Given the description of an element on the screen output the (x, y) to click on. 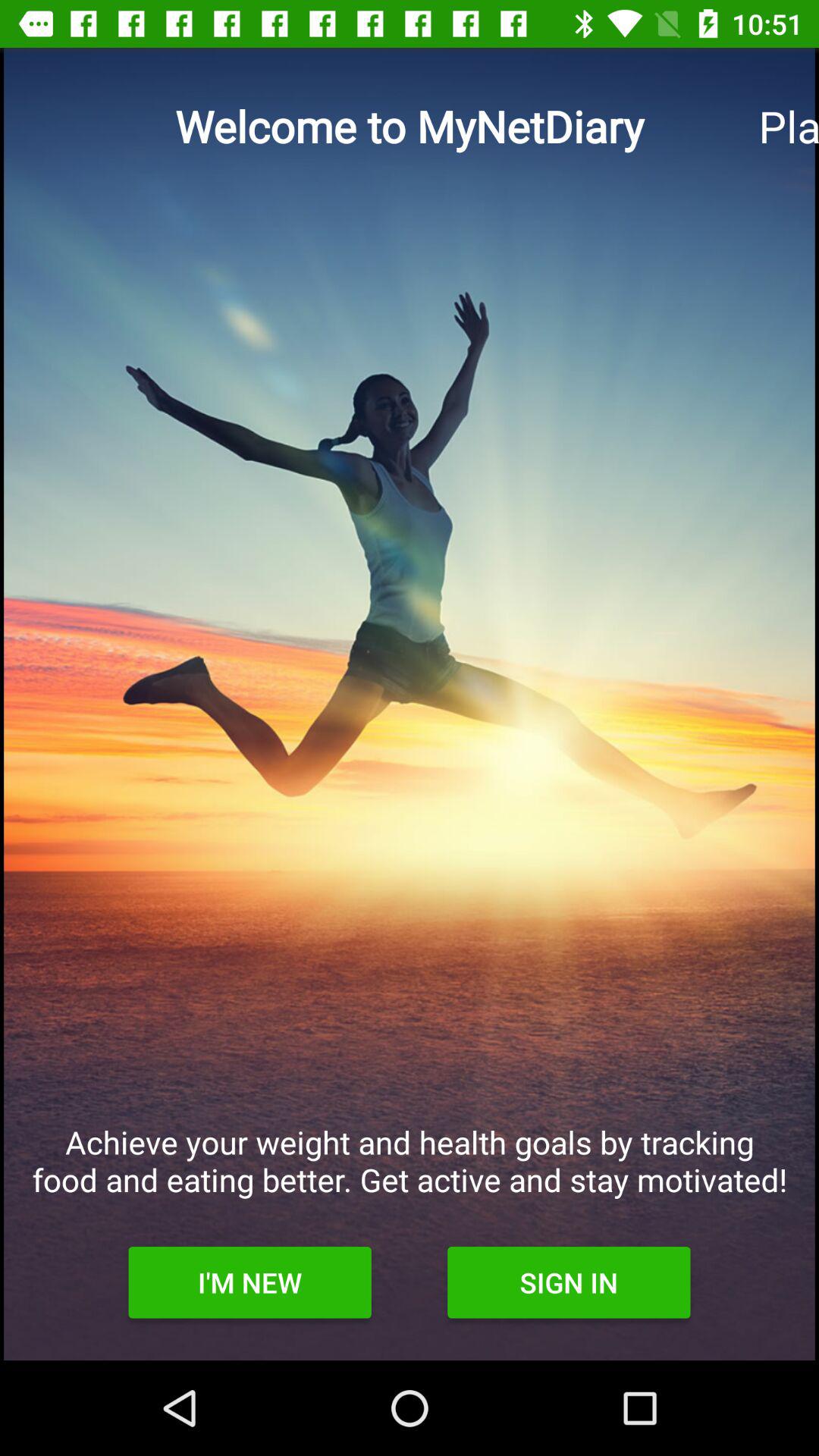
turn off the item to the right of the i'm new item (568, 1282)
